Given the description of an element on the screen output the (x, y) to click on. 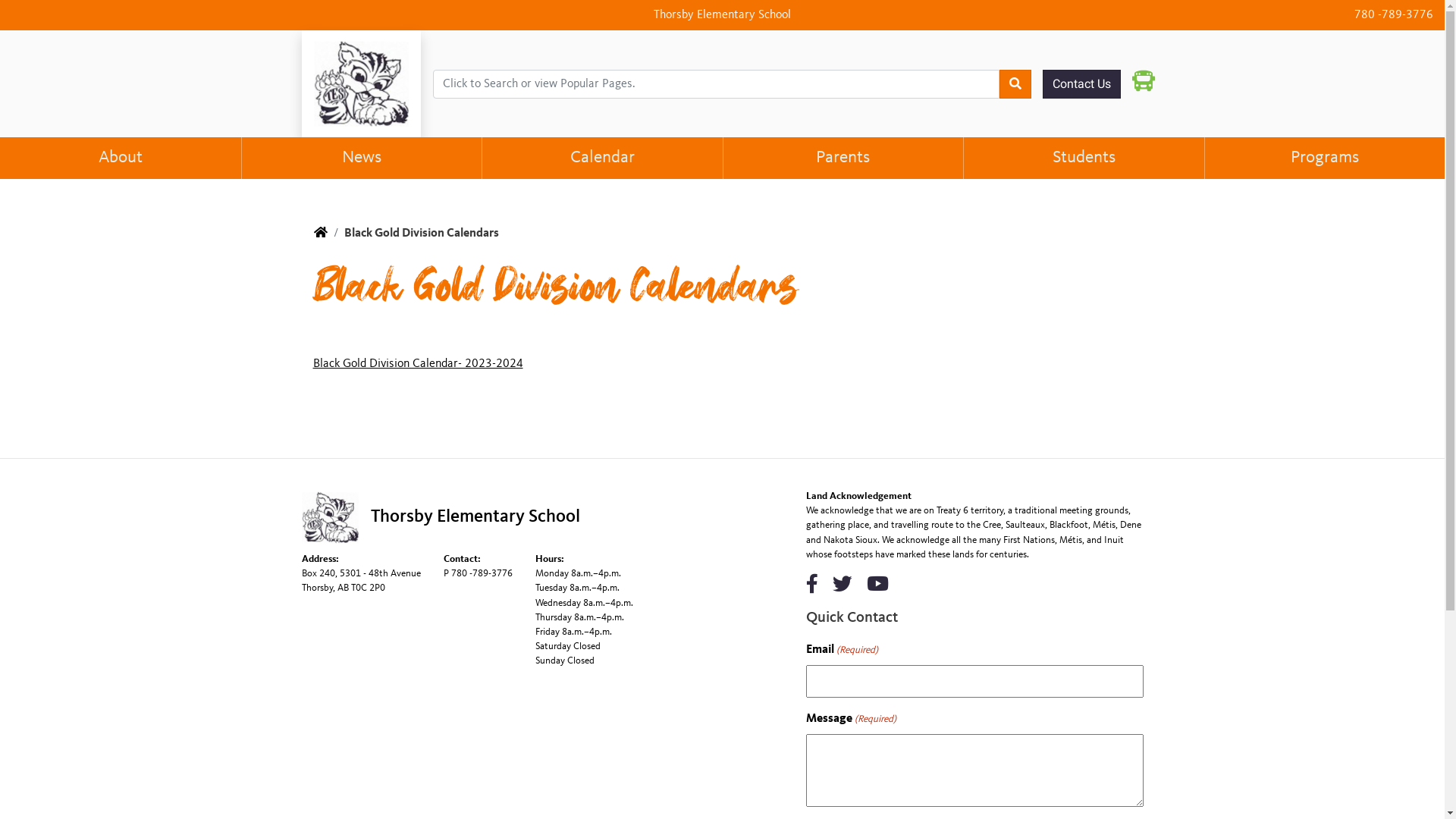
News Element type: text (361, 157)
Contact Us Element type: text (1080, 83)
Parents Element type: text (842, 157)
Programs Element type: text (1324, 157)
Black Gold Division Calendar- 2023-2024 Element type: text (417, 363)
Students Element type: text (1083, 157)
<i class="fas fa-home"></i> Element type: hover (320, 233)
About Element type: text (120, 157)
Calendar Element type: text (601, 157)
